Given the description of an element on the screen output the (x, y) to click on. 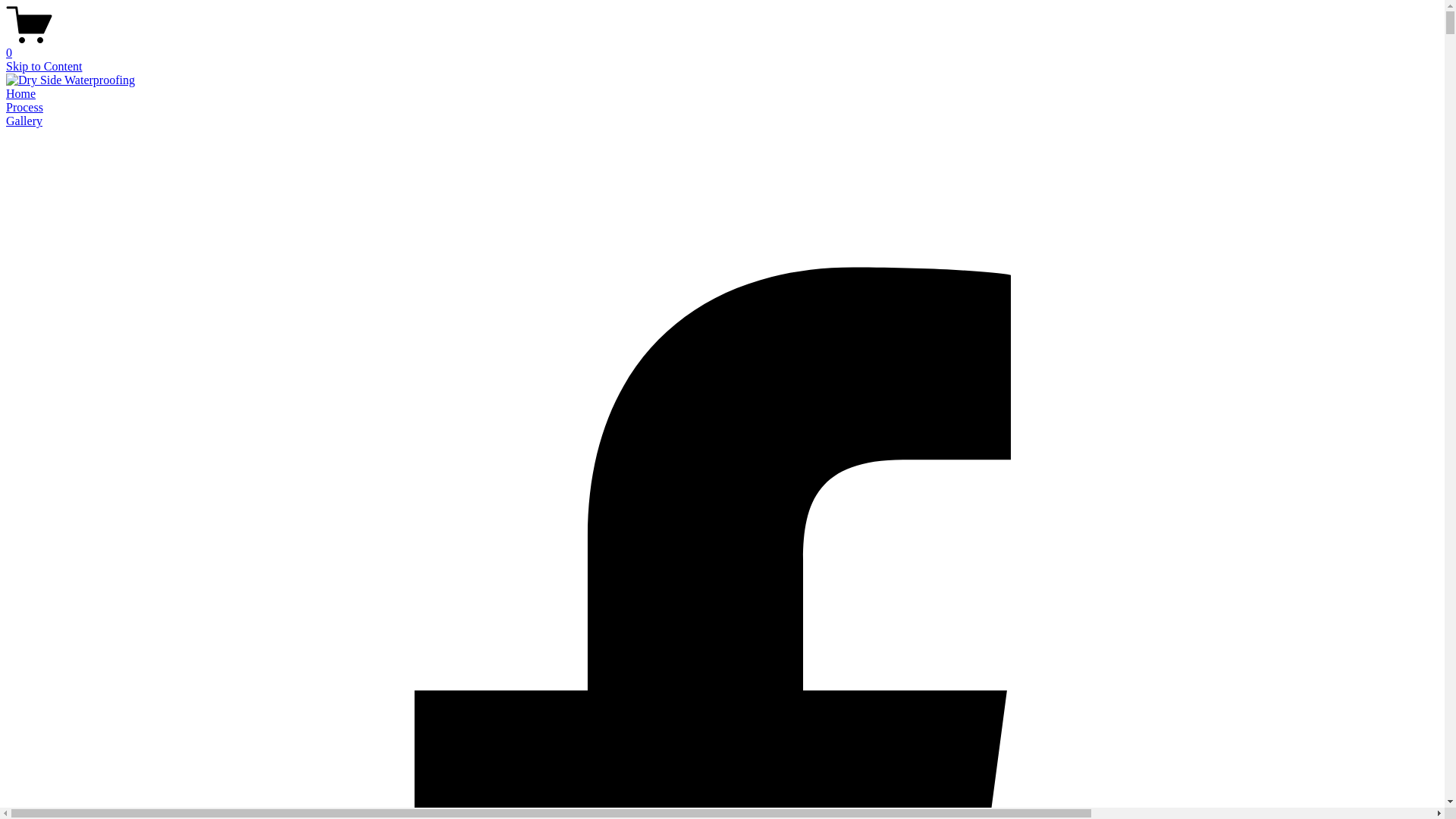
0 Element type: text (722, 45)
Skip to Content Element type: text (43, 65)
Home Element type: text (20, 93)
Process Element type: text (24, 106)
Gallery Element type: text (24, 120)
